Given the description of an element on the screen output the (x, y) to click on. 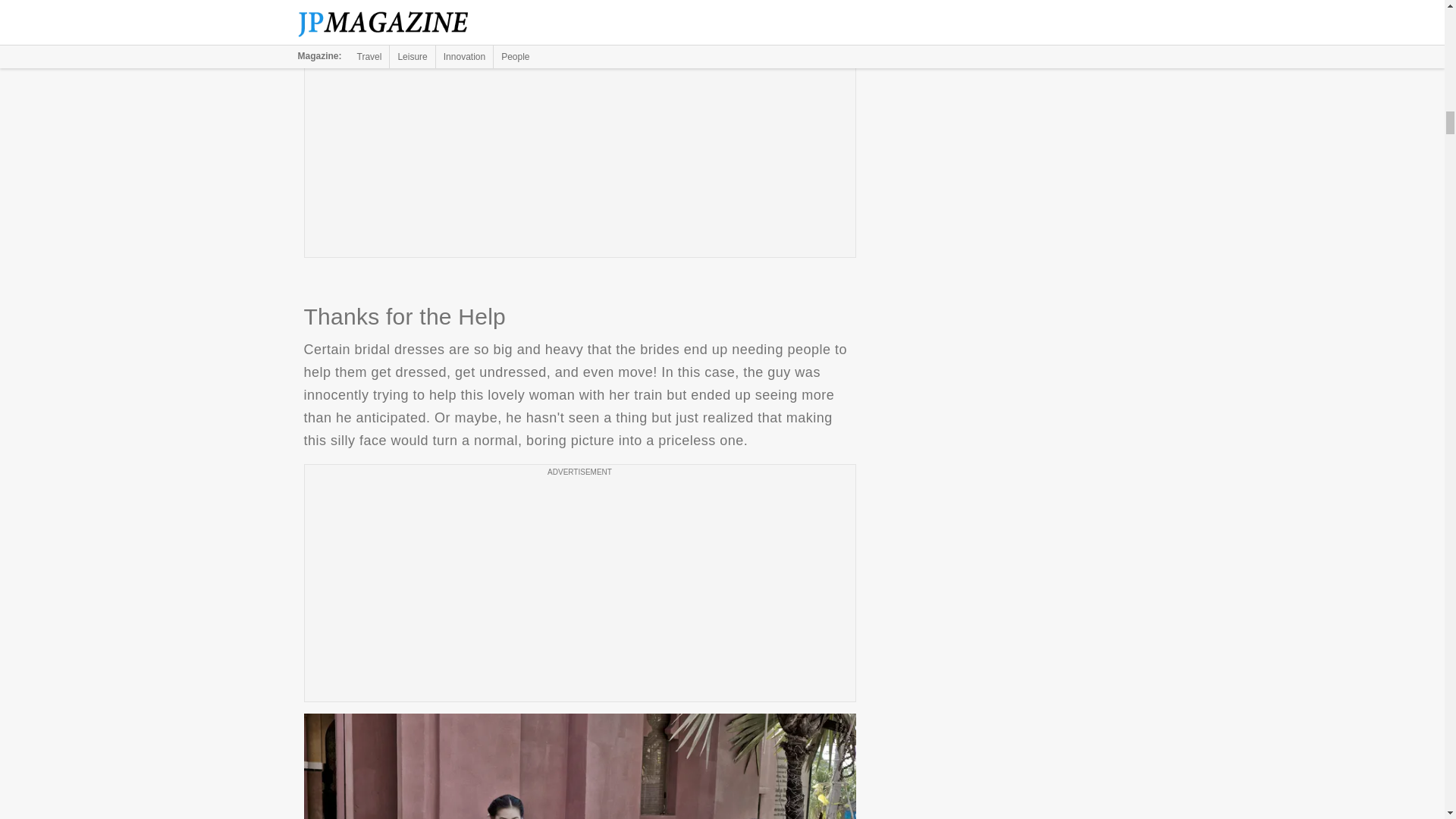
Thanks for the Help (579, 766)
